Given the description of an element on the screen output the (x, y) to click on. 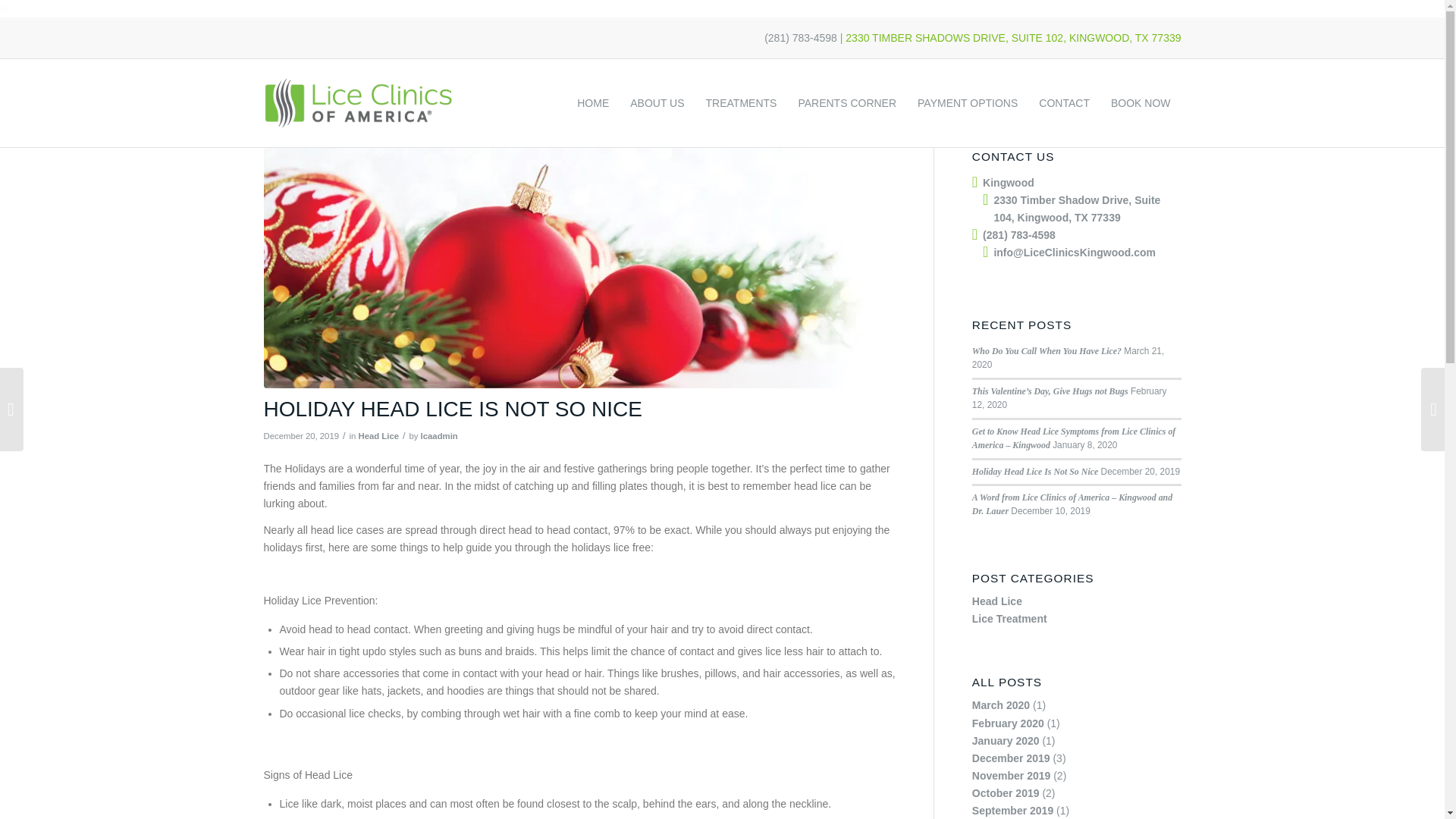
2330 Timber Shadow Drive, Suite 104, Kingwood, TX 77339 (1076, 208)
Kingwood (1007, 182)
CONTACT (1064, 102)
TREATMENTS (741, 102)
Head Lice (378, 435)
PARENTS CORNER (846, 102)
ABOUT US (657, 102)
Posts by lcaadmin (439, 435)
PAYMENT OPTIONS (967, 102)
lcaadmin (439, 435)
BOOK NOW (1140, 102)
HOME (592, 102)
